Given the description of an element on the screen output the (x, y) to click on. 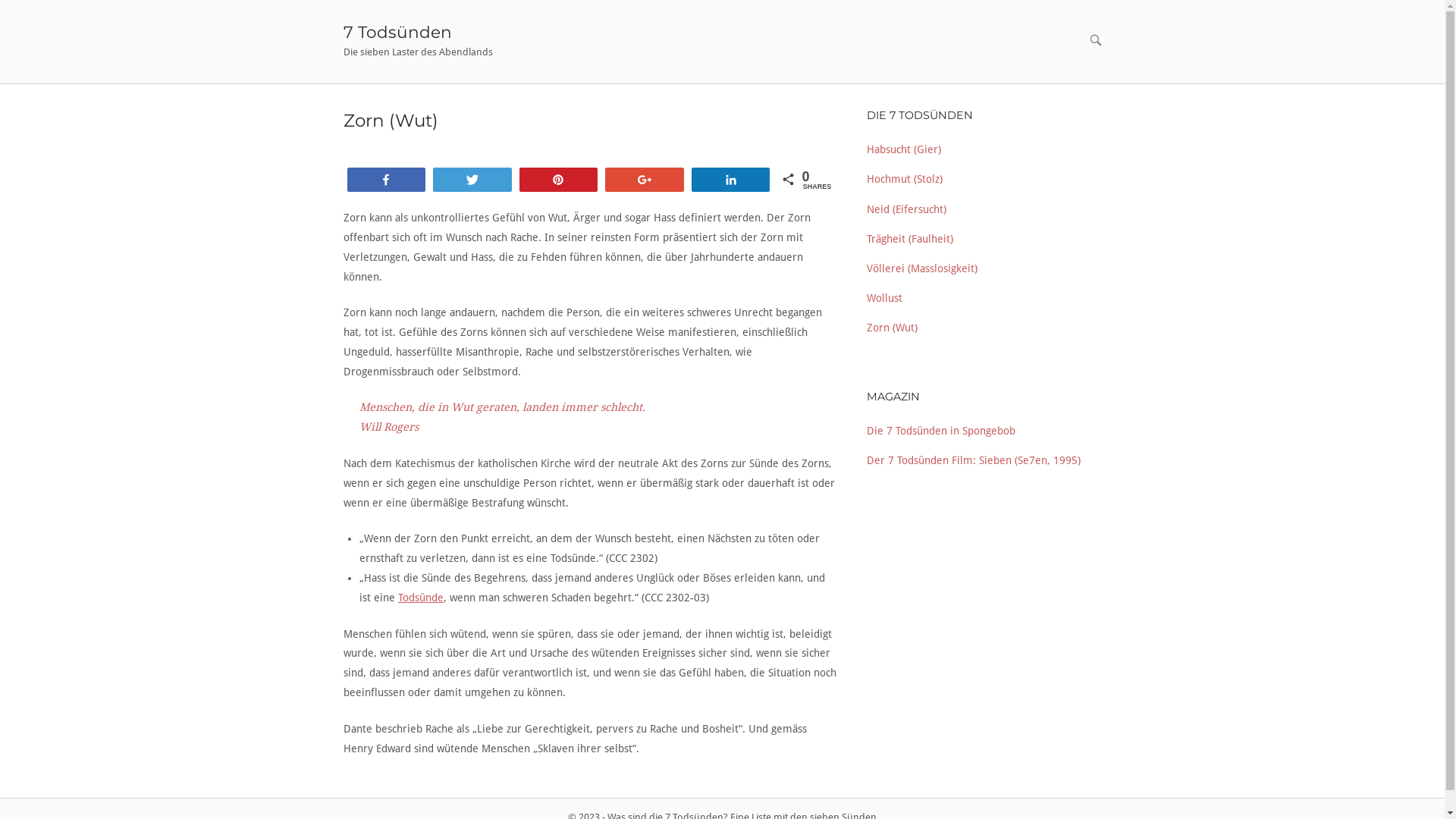
Wollust Element type: text (883, 297)
Hochmut (Stolz) Element type: text (903, 178)
Neid (Eifersucht) Element type: text (905, 209)
OPEN SEARCH BAR Element type: text (1094, 41)
Habsucht (Gier) Element type: text (903, 149)
Zorn (Wut) Element type: text (891, 327)
Skip to content Element type: text (0, 0)
